Given the description of an element on the screen output the (x, y) to click on. 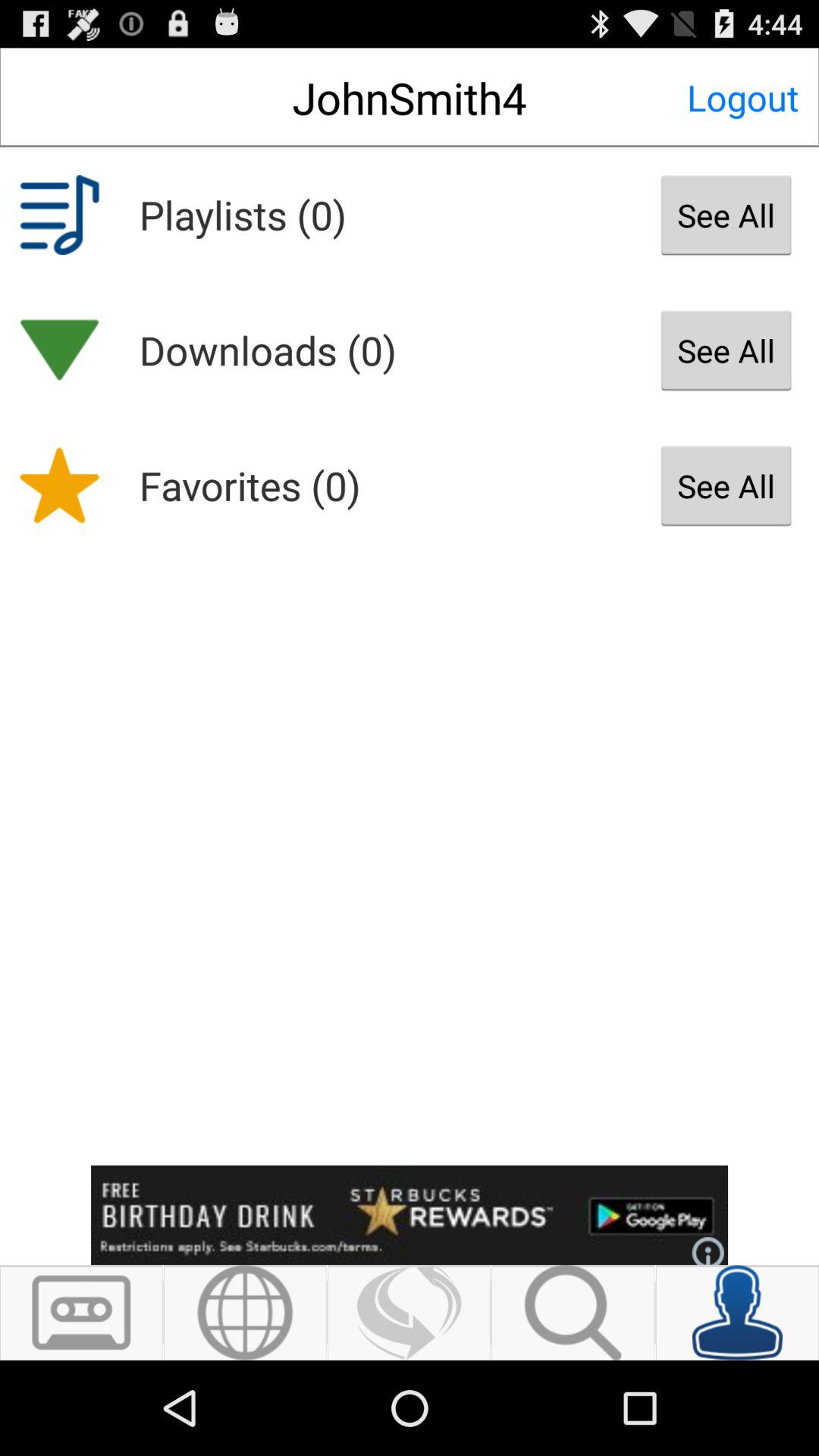
toggle loop option (408, 1312)
